Given the description of an element on the screen output the (x, y) to click on. 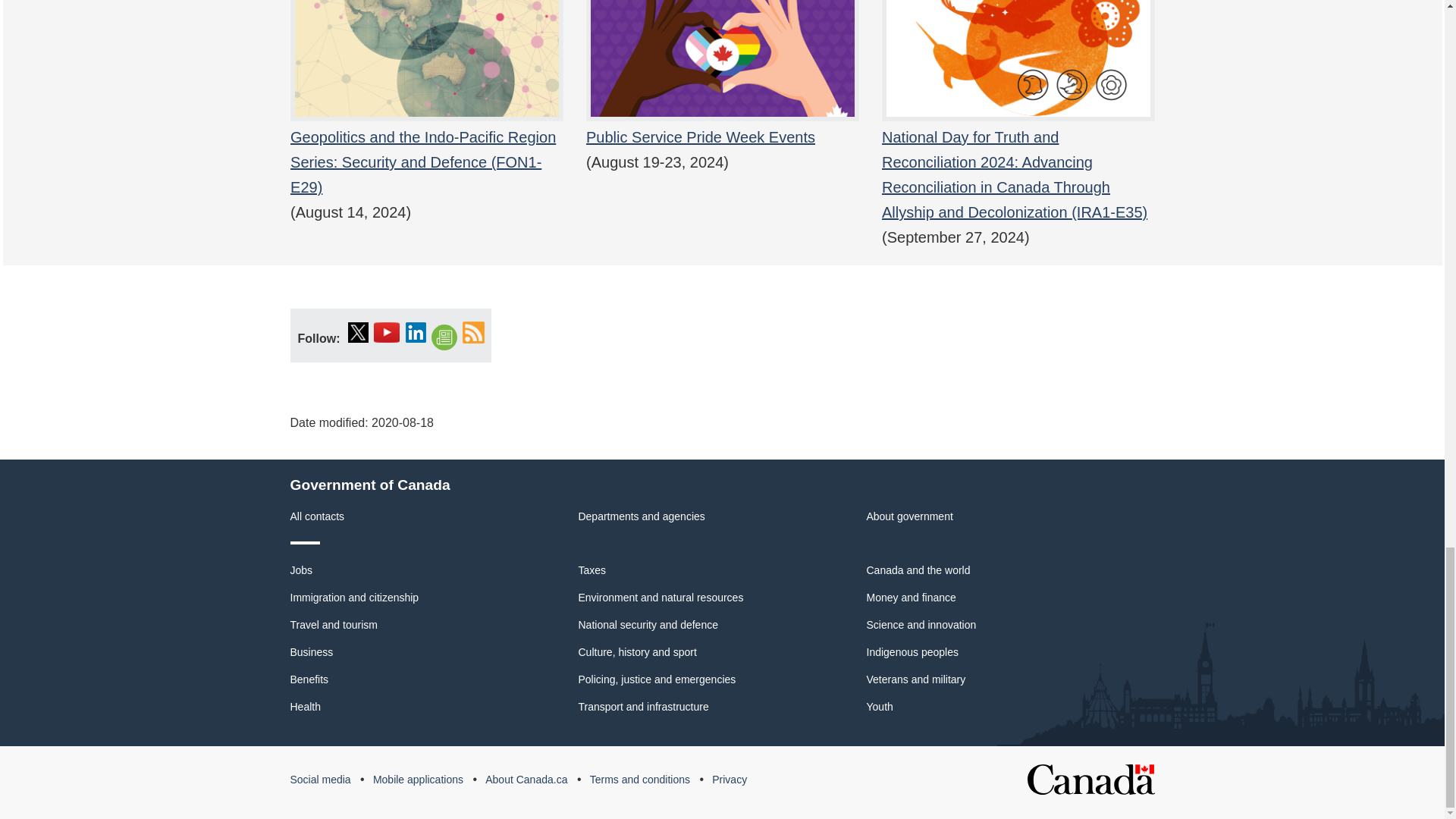
YouTube (386, 332)
Twitter (357, 332)
RSS (472, 332)
GCLearning newsletter (443, 337)
All contacts (316, 516)
LinkedIn (415, 332)
Twitter (357, 332)
GCLearning newsletter (443, 337)
RSS (472, 332)
Public Service Pride Week Events (722, 85)
YouTube (386, 332)
LinkedIn (415, 332)
